Given the description of an element on the screen output the (x, y) to click on. 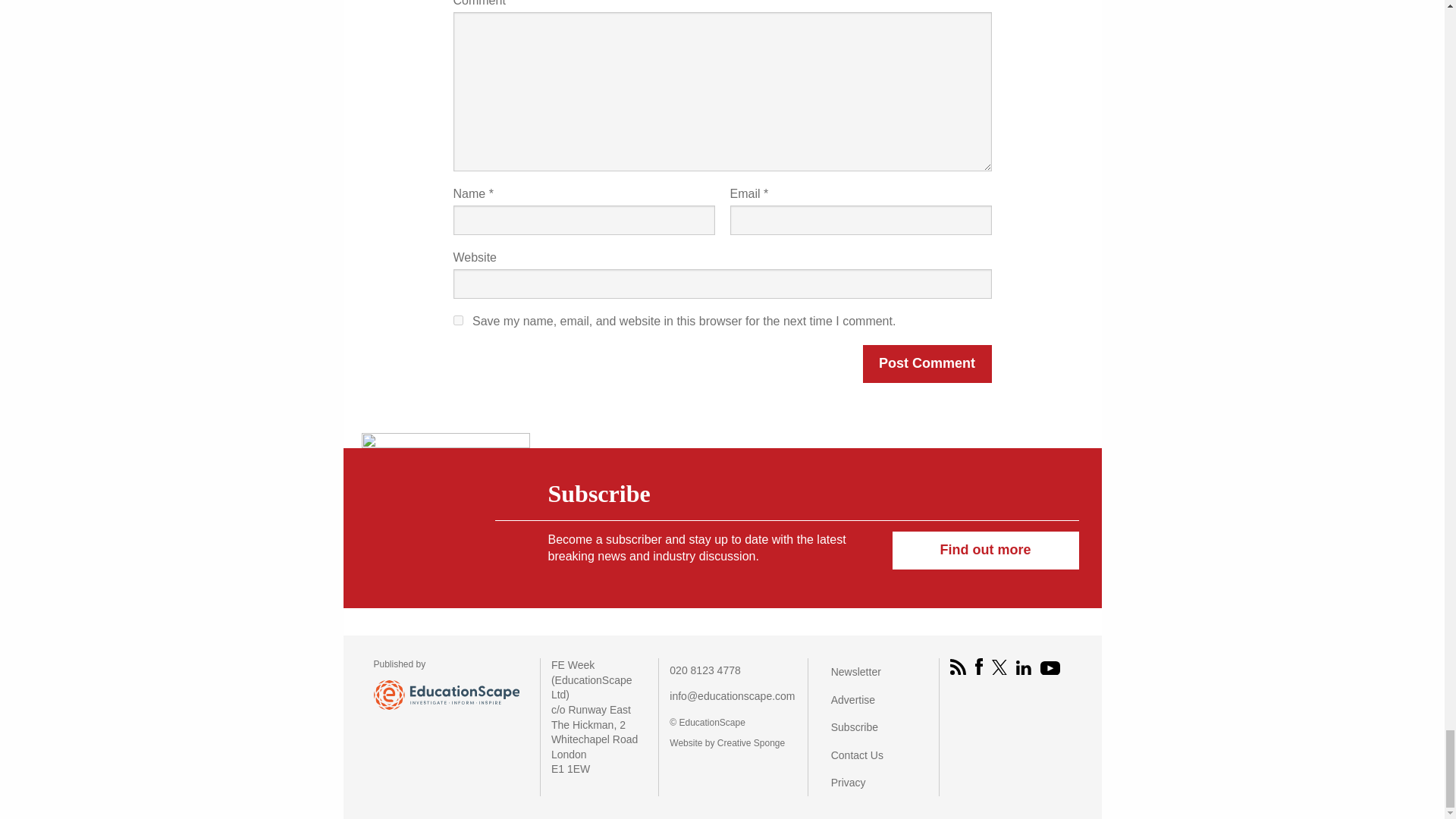
Post Comment (927, 364)
yes (457, 320)
